Given the description of an element on the screen output the (x, y) to click on. 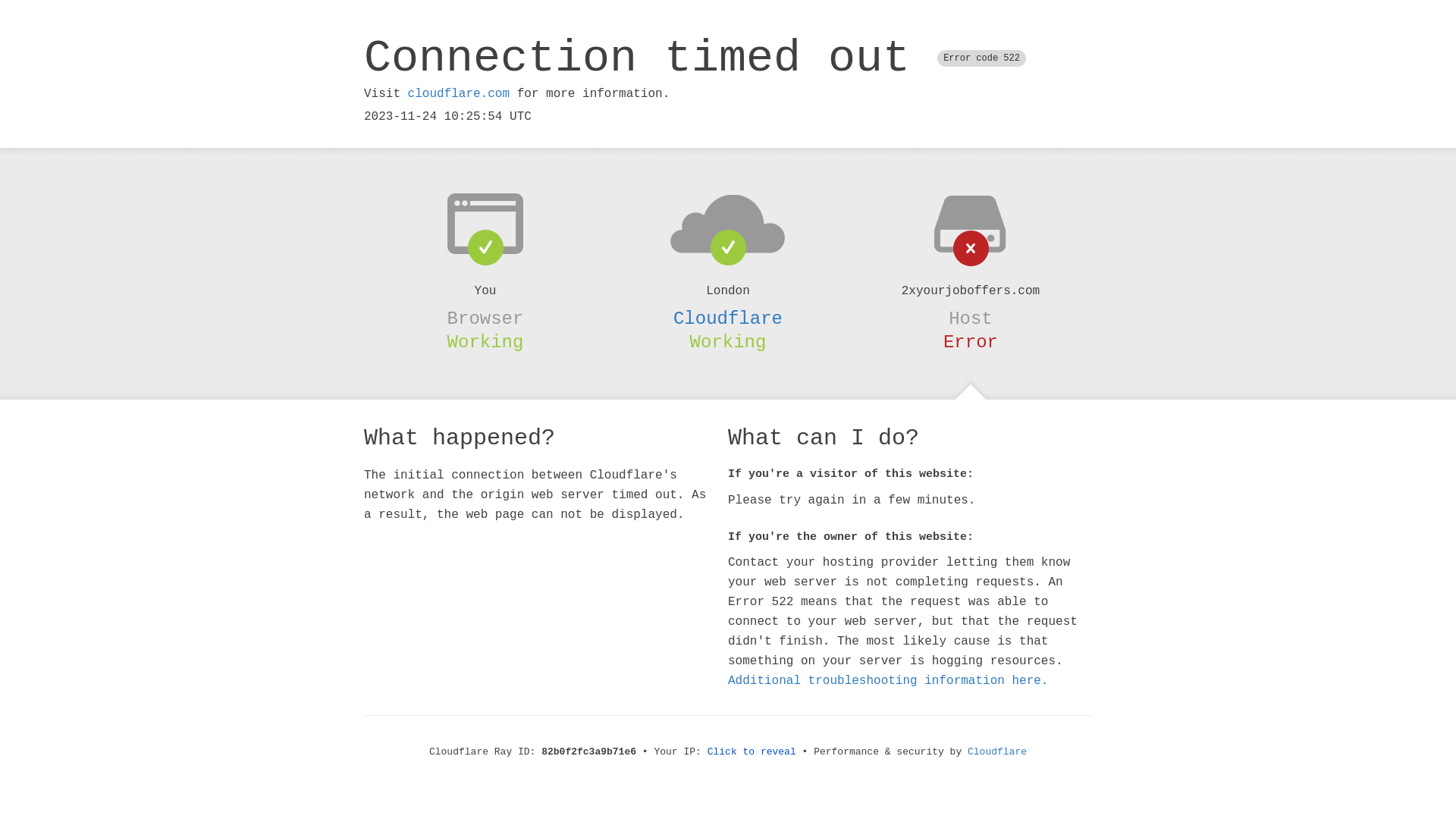
Click to reveal Element type: text (751, 751)
Cloudflare Element type: text (996, 751)
cloudflare.com Element type: text (458, 93)
Additional troubleshooting information here. Element type: text (888, 680)
Cloudflare Element type: text (727, 318)
